Given the description of an element on the screen output the (x, y) to click on. 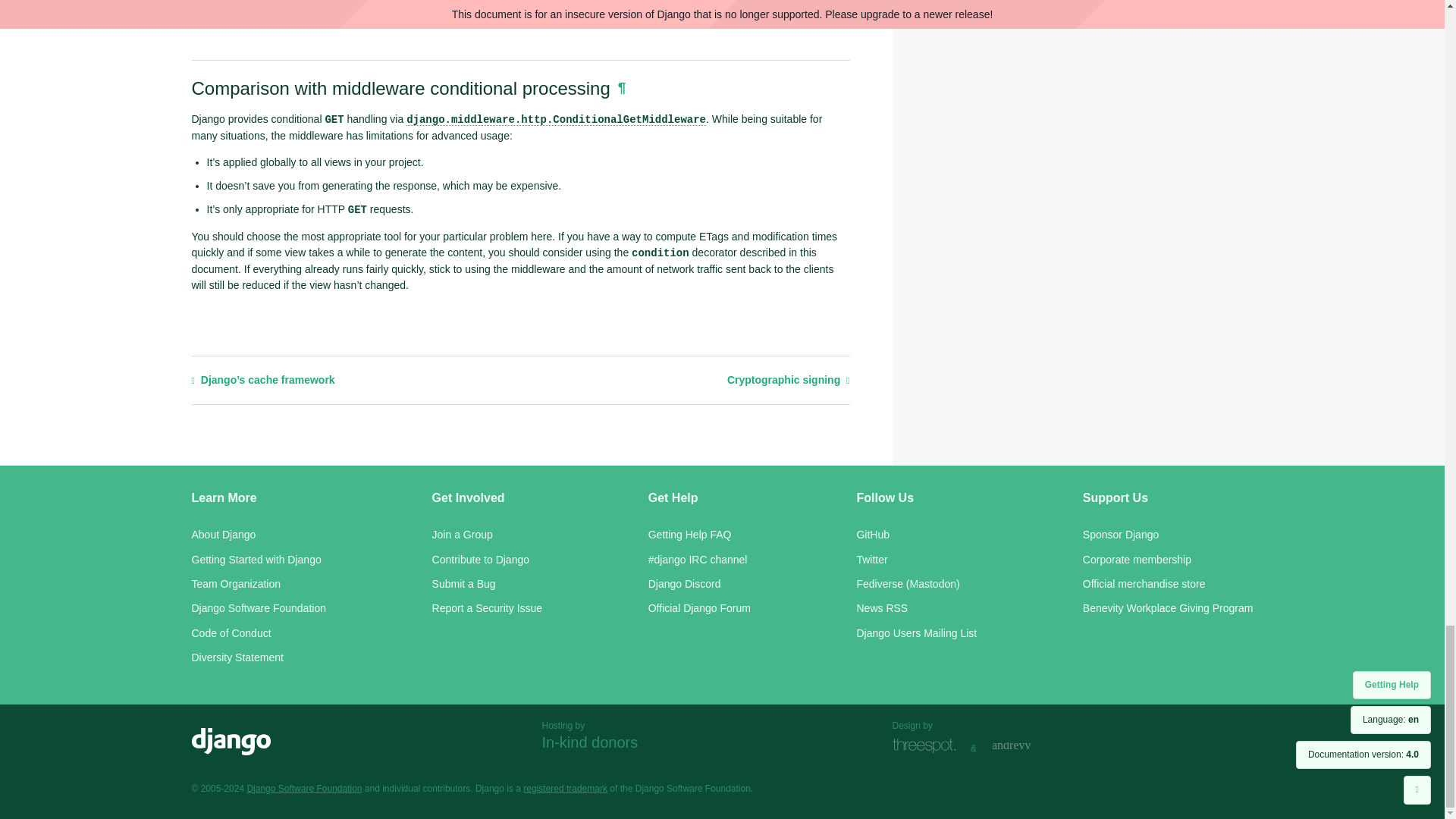
Permalink to this headline (621, 87)
django.middleware.http.ConditionalGetMiddleware (556, 119)
